Given the description of an element on the screen output the (x, y) to click on. 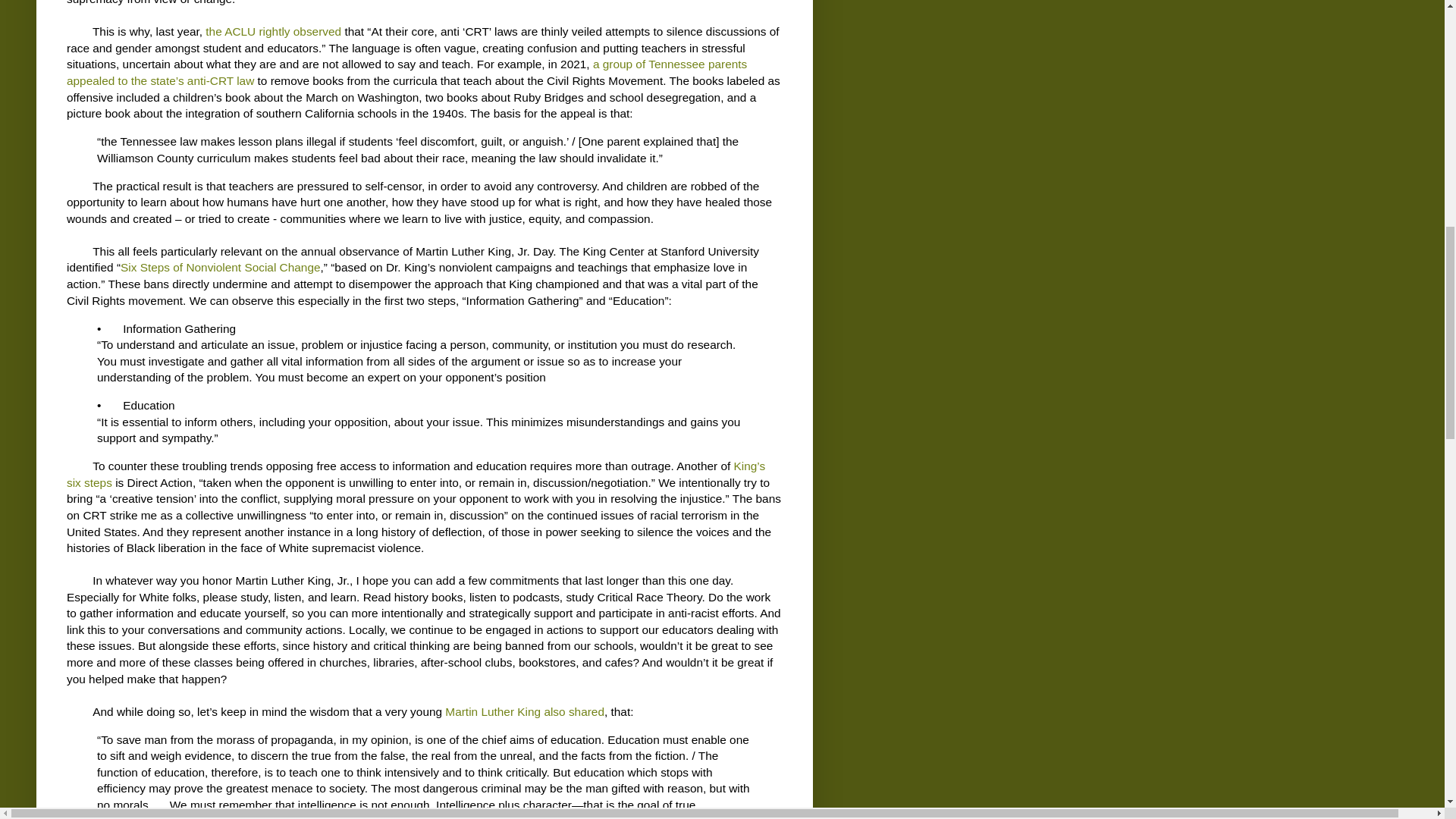
Martin Luther King also shared (524, 711)
Six Steps of Nonviolent Social Change (220, 267)
the ACLU rightly observed (272, 31)
